Given the description of an element on the screen output the (x, y) to click on. 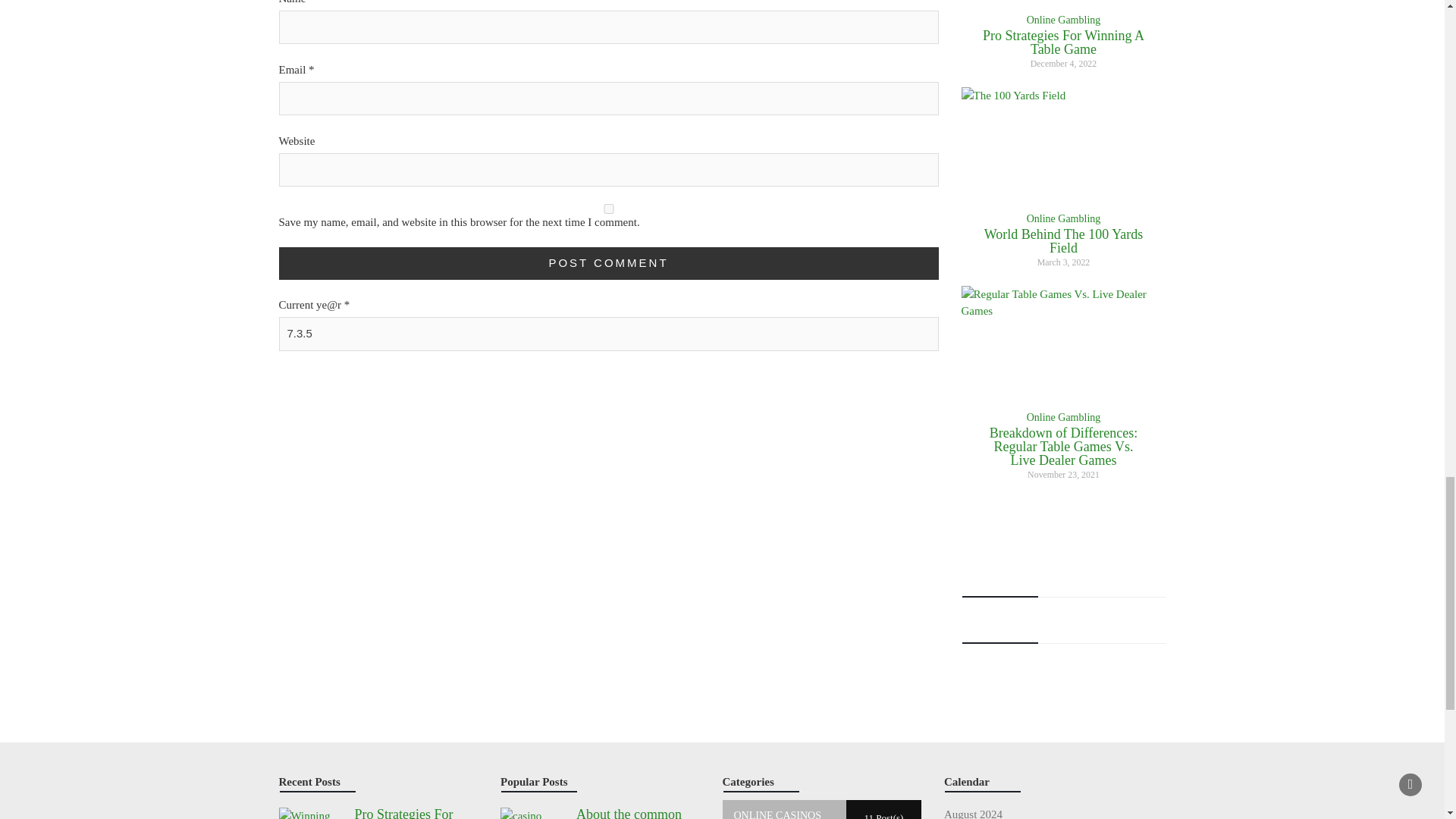
Post Comment (609, 263)
yes (609, 208)
7.3.5 (609, 333)
Post Comment (609, 263)
